Given the description of an element on the screen output the (x, y) to click on. 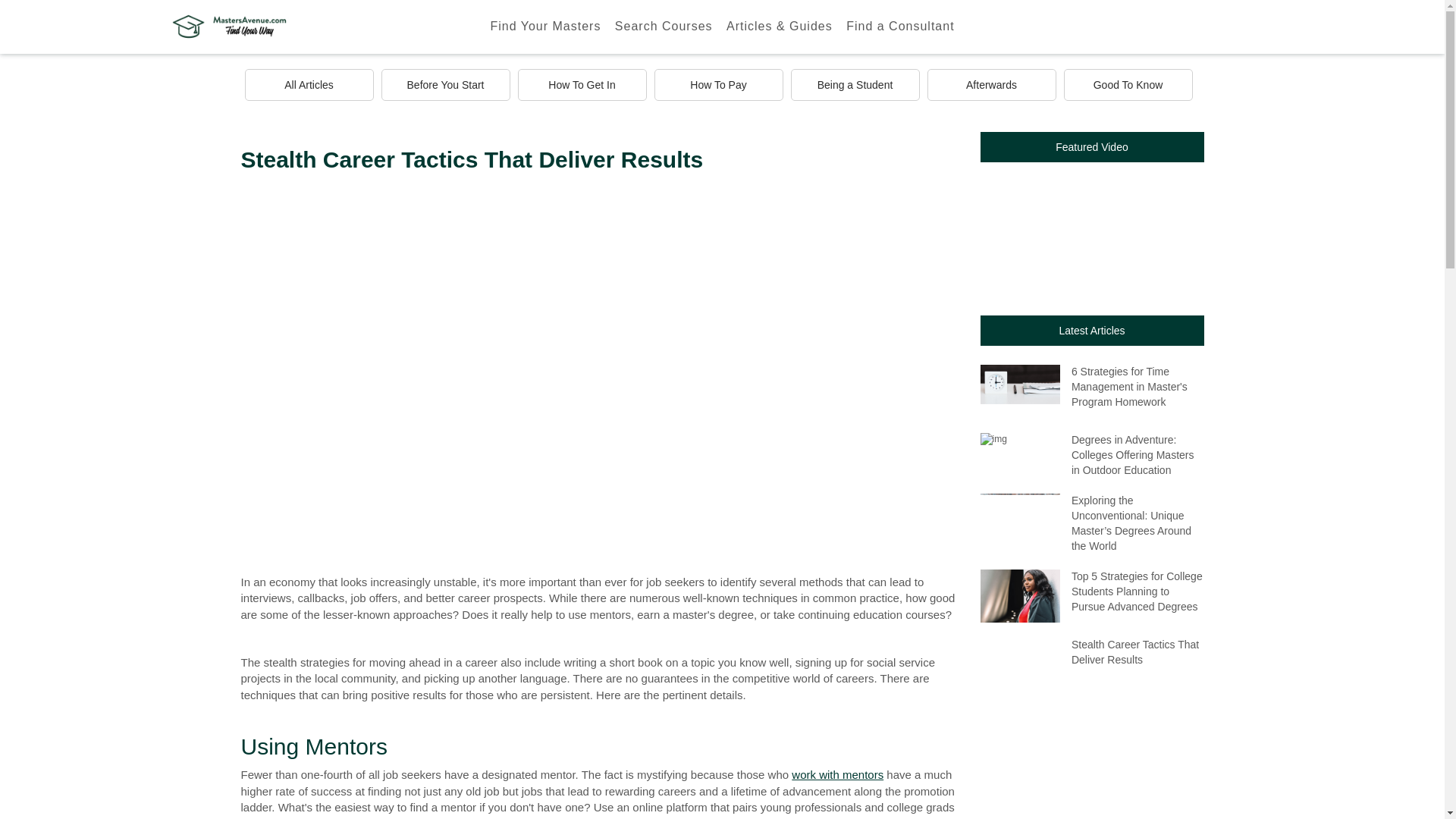
work with mentors (837, 774)
Before You Start (444, 84)
How To Pay (718, 84)
All Articles (308, 84)
Being a Student (854, 84)
Search Courses (663, 27)
How To Get In (581, 84)
Good To Know (1127, 84)
Afterwards (990, 84)
Stealth Career Tactics That Deliver Results (1092, 664)
Find Your Masters (544, 27)
Find a Consultant (900, 27)
